Given the description of an element on the screen output the (x, y) to click on. 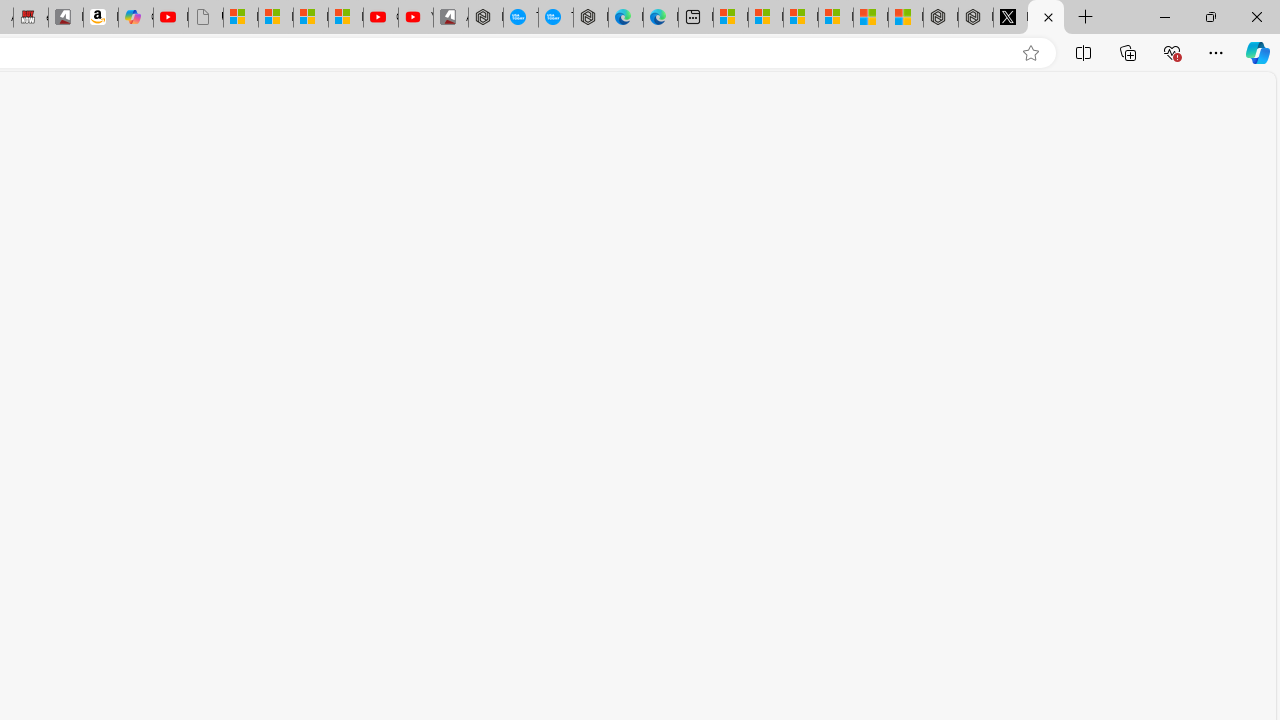
YouTube Kids - An App Created for Kids to Explore Content (415, 17)
All Cubot phones (450, 17)
Gloom - YouTube (380, 17)
Nordace - My Account (485, 17)
Nordace (@NordaceOfficial) / X (1010, 17)
